Given the description of an element on the screen output the (x, y) to click on. 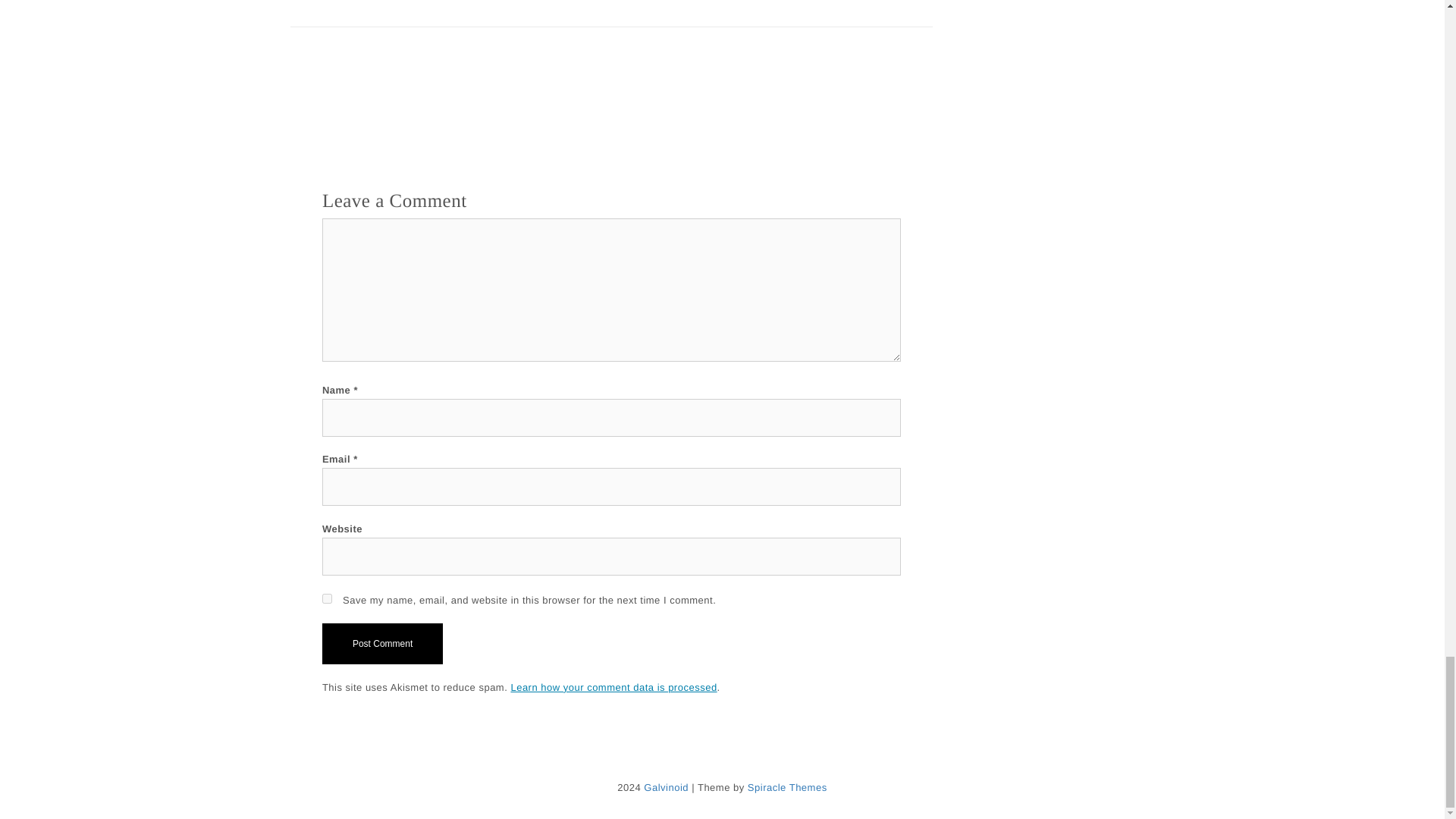
yes (326, 598)
Learn how your comment data is processed (613, 687)
Galvinoid (665, 787)
Post Comment (381, 643)
Post Comment (381, 643)
